Given the description of an element on the screen output the (x, y) to click on. 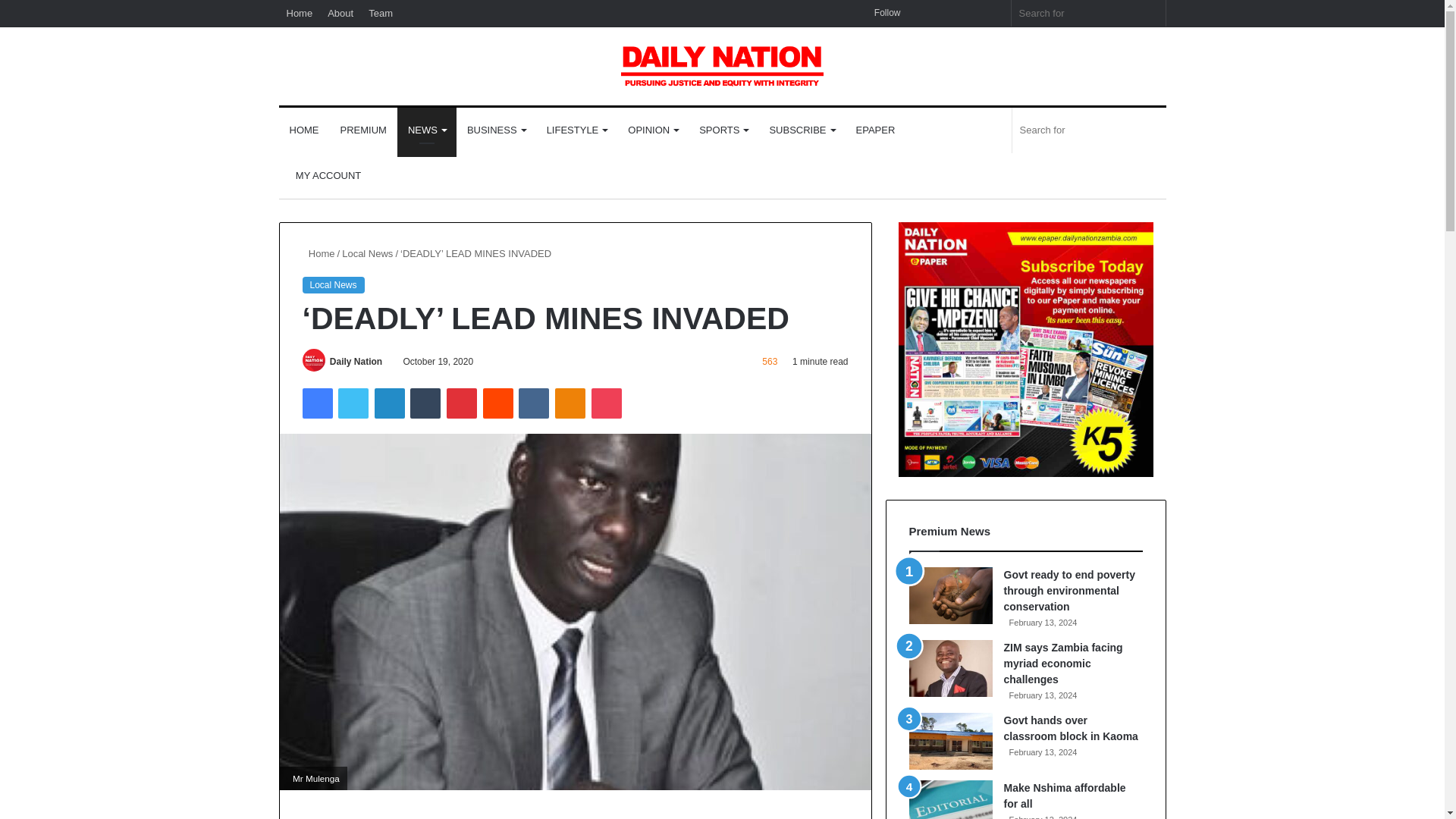
Facebook (316, 403)
HOME (304, 130)
Search for (1088, 130)
LinkedIn (389, 403)
Twitter (352, 403)
LIFESTYLE (576, 130)
Search for (1088, 13)
Search for (1149, 13)
VKontakte (533, 403)
Tumblr (425, 403)
